Given the description of an element on the screen output the (x, y) to click on. 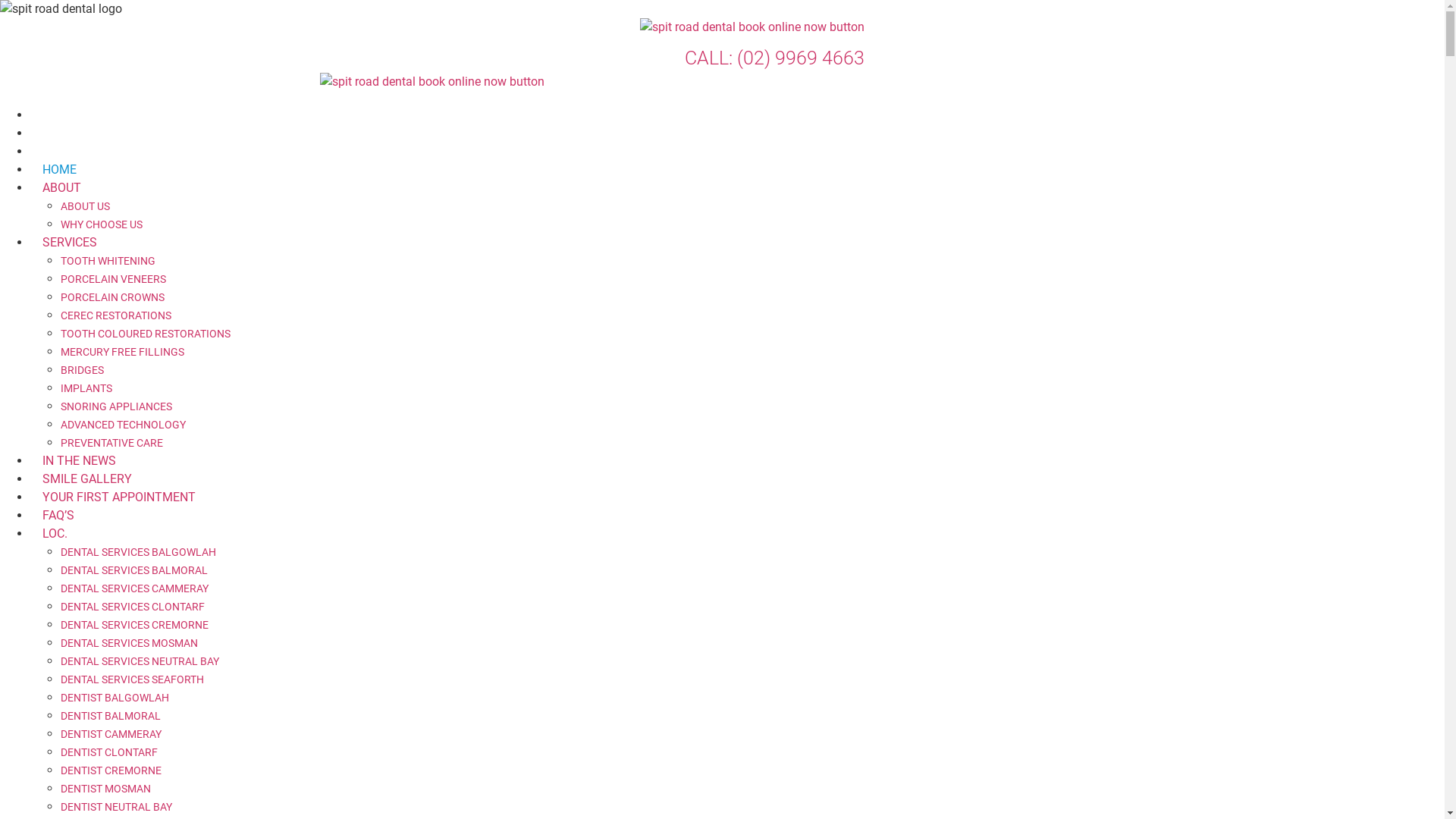
DENTAL SERVICES SEAFORTH Element type: text (131, 679)
CEREC RESTORATIONS Element type: text (115, 315)
DENTIST CLONTARF Element type: text (108, 752)
LOC. Element type: text (54, 533)
DENTAL SERVICES BALGOWLAH Element type: text (138, 552)
IN THE NEWS Element type: text (79, 460)
PORCELAIN VENEERS Element type: text (113, 279)
CALL: (02) 9969 4663 Element type: text (774, 58)
DENTAL SERVICES MOSMAN Element type: text (128, 643)
YOUR FIRST APPOINTMENT Element type: text (118, 496)
DENTIST NEUTRAL BAY Element type: text (116, 806)
DENTAL SERVICES CREMORNE Element type: text (134, 624)
TOOTH COLOURED RESTORATIONS Element type: text (145, 333)
HOME Element type: text (59, 169)
DENTIST CAMMERAY Element type: text (110, 734)
WHY CHOOSE US Element type: text (101, 224)
DENTIST BALGOWLAH Element type: text (114, 697)
SMILE GALLERY Element type: text (87, 478)
ADVANCED TECHNOLOGY Element type: text (122, 424)
DENTAL SERVICES BALMORAL Element type: text (133, 570)
DENTAL SERVICES NEUTRAL BAY Element type: text (139, 661)
IMPLANTS Element type: text (86, 388)
DENTIST BALMORAL Element type: text (110, 715)
DENTAL SERVICES CLONTARF Element type: text (132, 606)
MERCURY FREE FILLINGS Element type: text (122, 351)
ABOUT Element type: text (61, 187)
DENTAL SERVICES CAMMERAY Element type: text (134, 588)
SNORING APPLIANCES Element type: text (116, 406)
SERVICES Element type: text (69, 242)
DENTIST CREMORNE Element type: text (110, 770)
ABOUT US Element type: text (84, 206)
DENTIST MOSMAN Element type: text (105, 788)
PREVENTATIVE CARE Element type: text (111, 442)
BRIDGES Element type: text (81, 370)
TOOTH WHITENING Element type: text (107, 260)
PORCELAIN CROWNS Element type: text (112, 297)
